Given the description of an element on the screen output the (x, y) to click on. 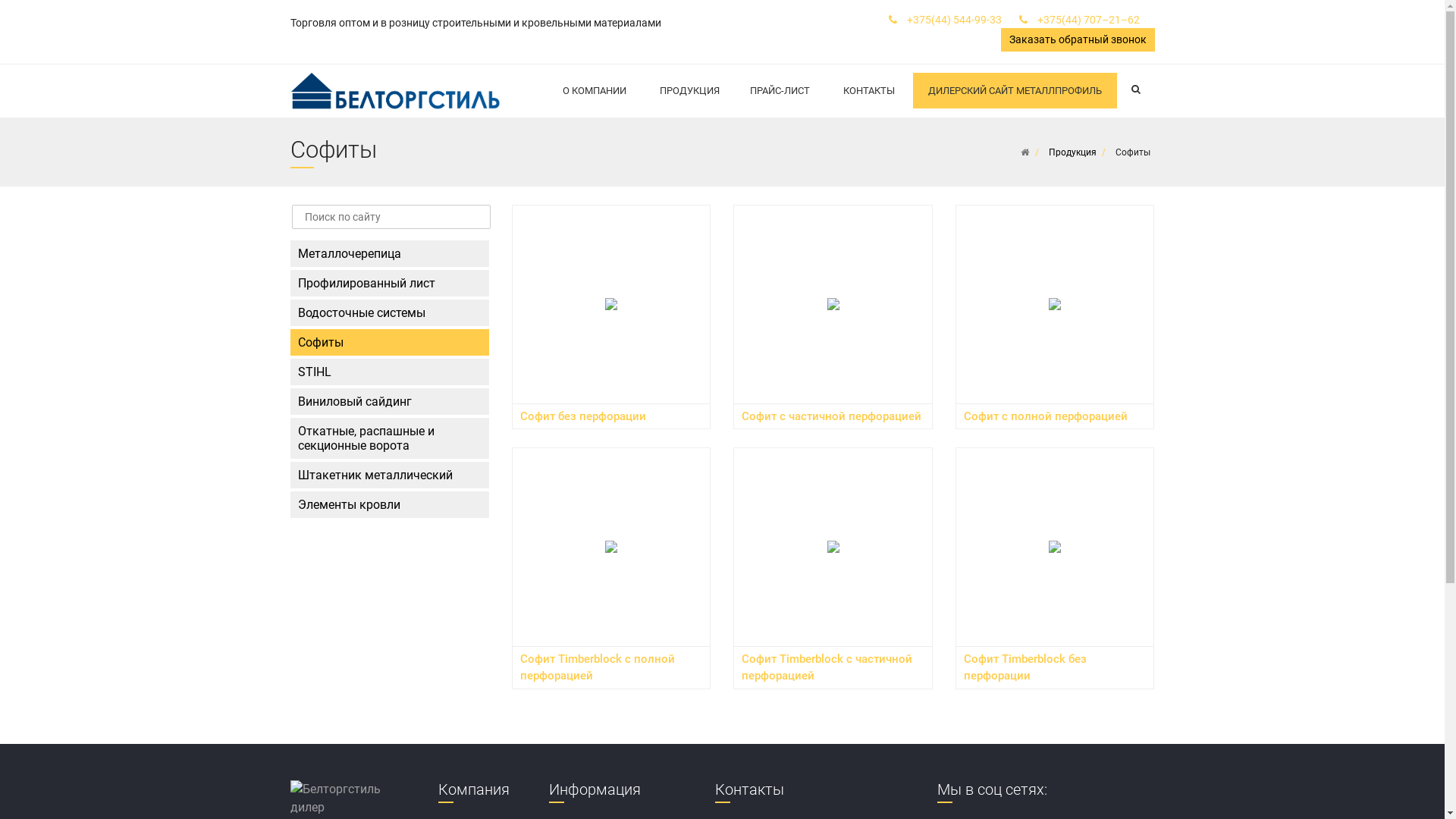
+375(44) 544-99-33 Element type: text (953, 19)
STIHL Element type: text (389, 371)
